Given the description of an element on the screen output the (x, y) to click on. 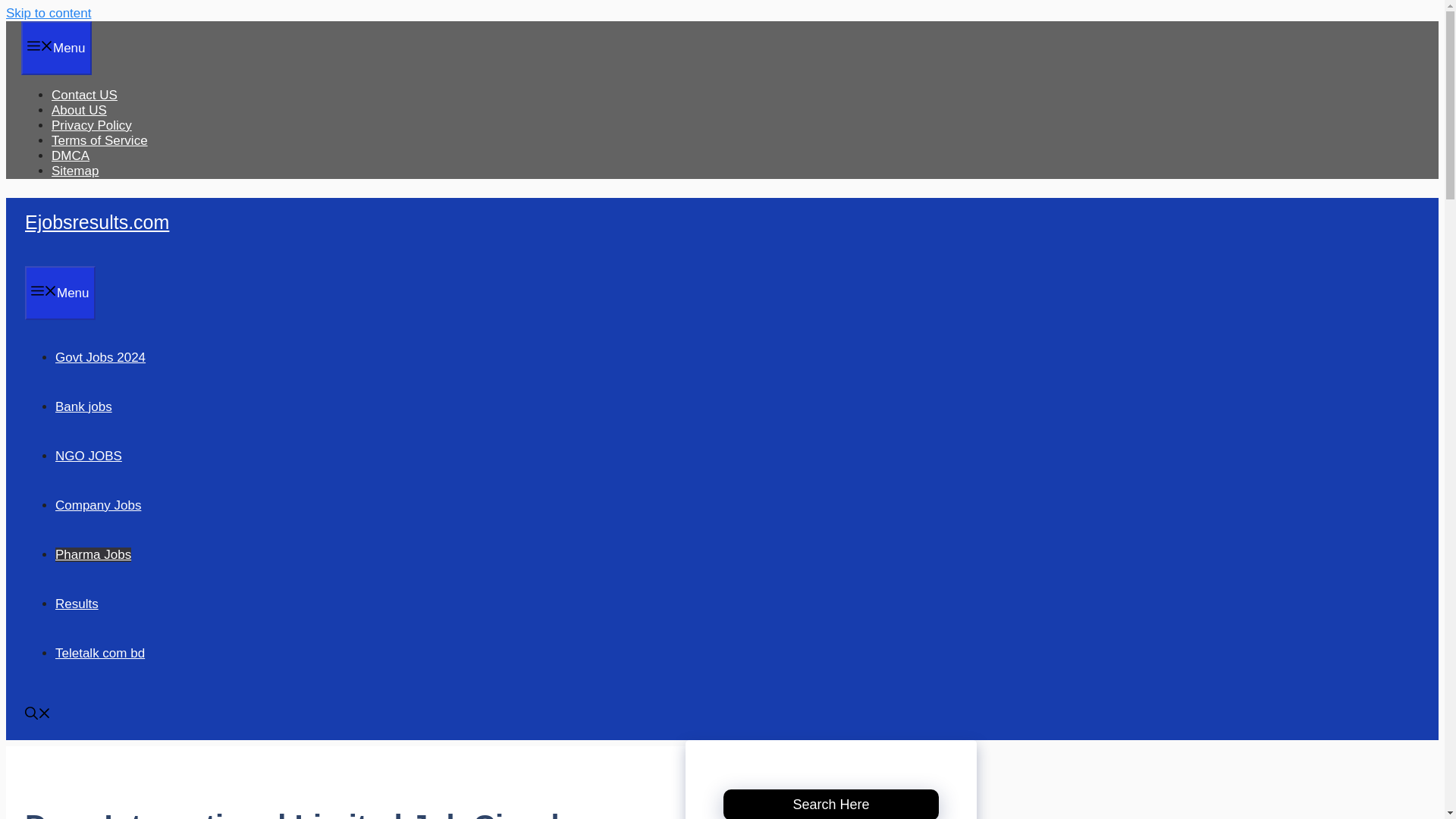
Ejobsresults.com (96, 221)
Govt Jobs 2024 (100, 357)
Bank jobs (83, 406)
Menu (56, 48)
Sitemap (74, 170)
Skip to content (47, 12)
Terms of Service (99, 140)
Teletalk com bd (99, 653)
Skip to content (47, 12)
Pharma Jobs (93, 554)
